Given the description of an element on the screen output the (x, y) to click on. 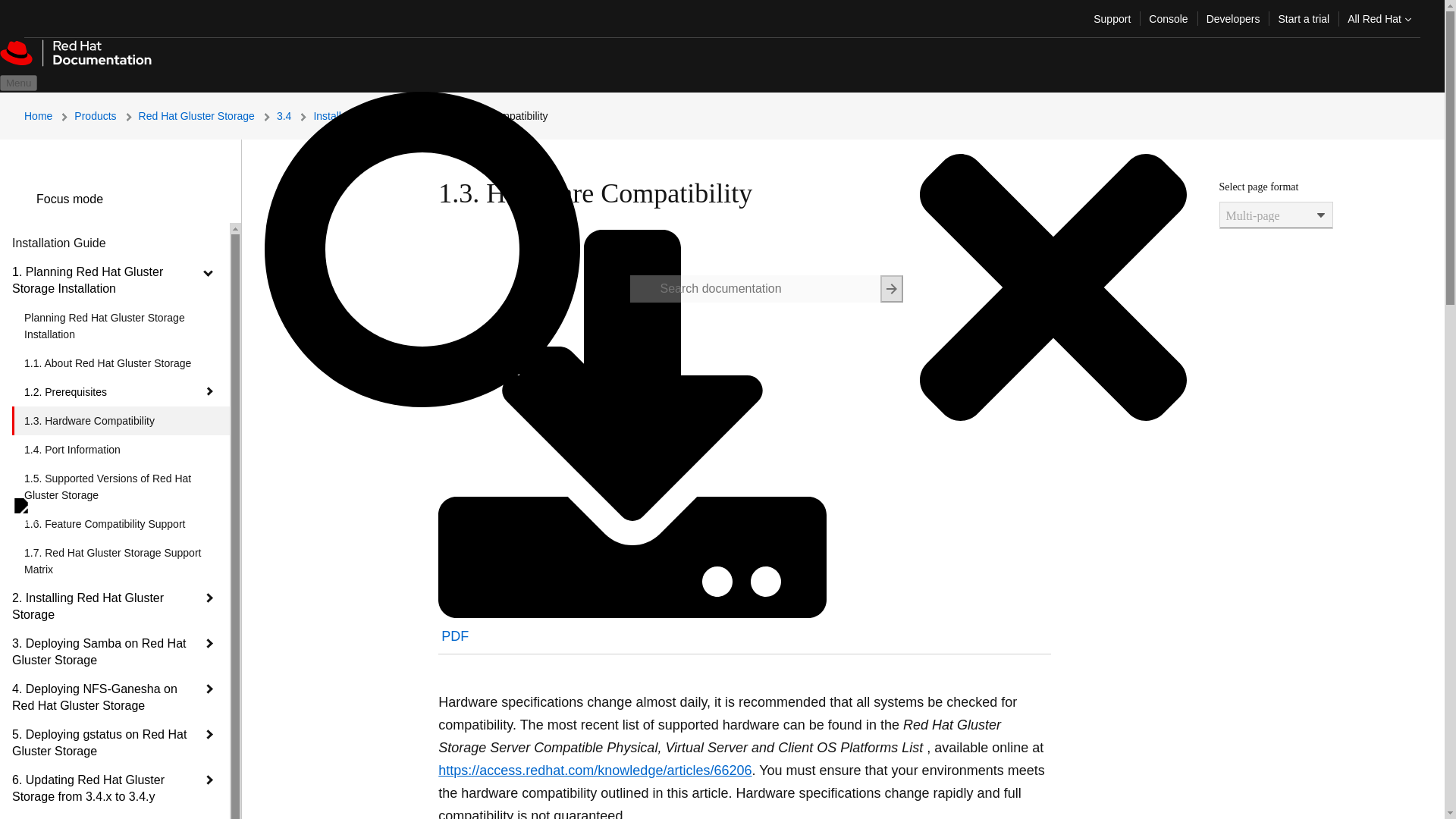
Console (1168, 18)
Start a trial (1303, 18)
Developers (1232, 18)
All Red Hat (1379, 18)
toggle focus mode (23, 199)
Support (1112, 18)
